Given the description of an element on the screen output the (x, y) to click on. 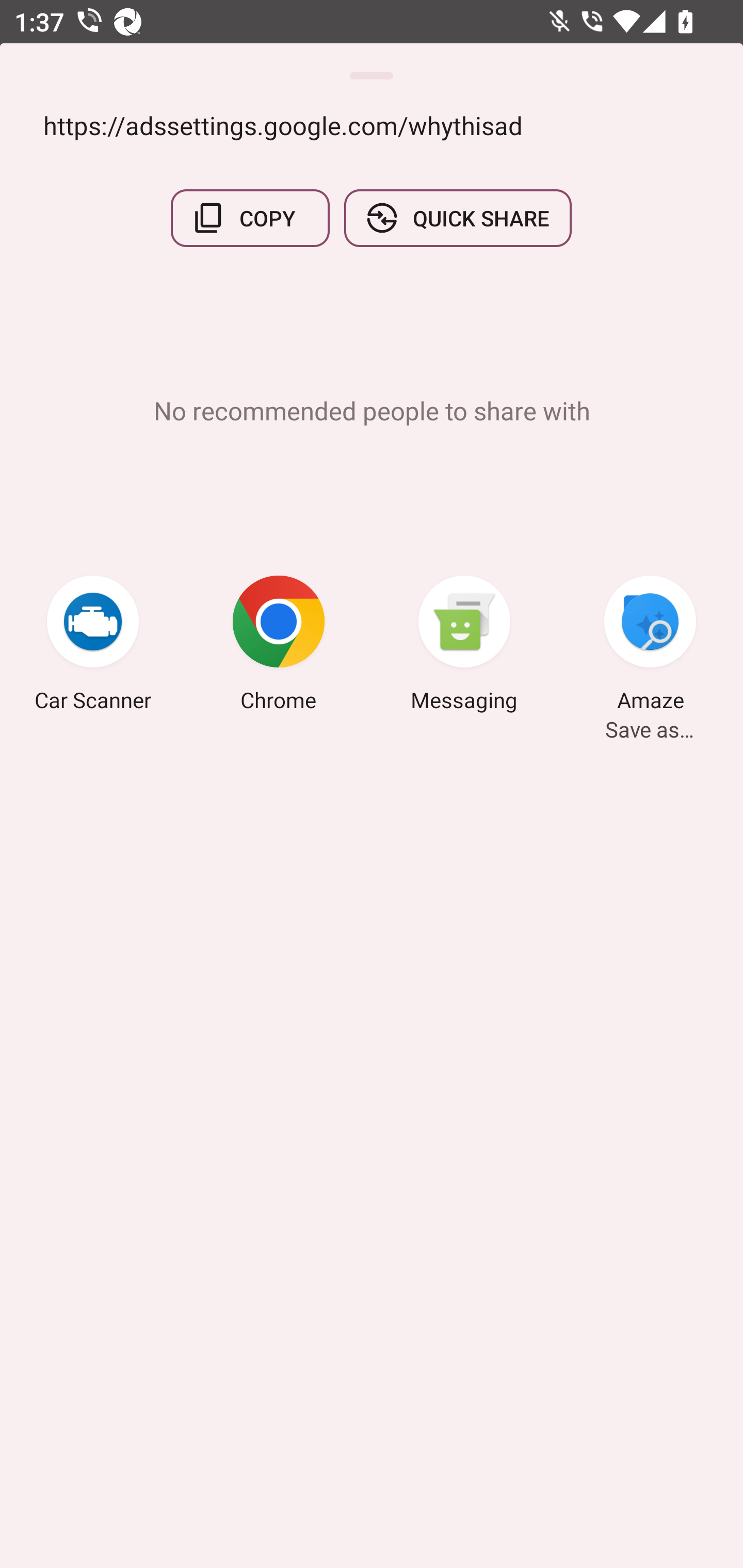
COPY (249, 218)
QUICK SHARE (457, 218)
Car Scanner (92, 646)
Chrome (278, 646)
Messaging (464, 646)
Amaze Save as… (650, 646)
